Given the description of an element on the screen output the (x, y) to click on. 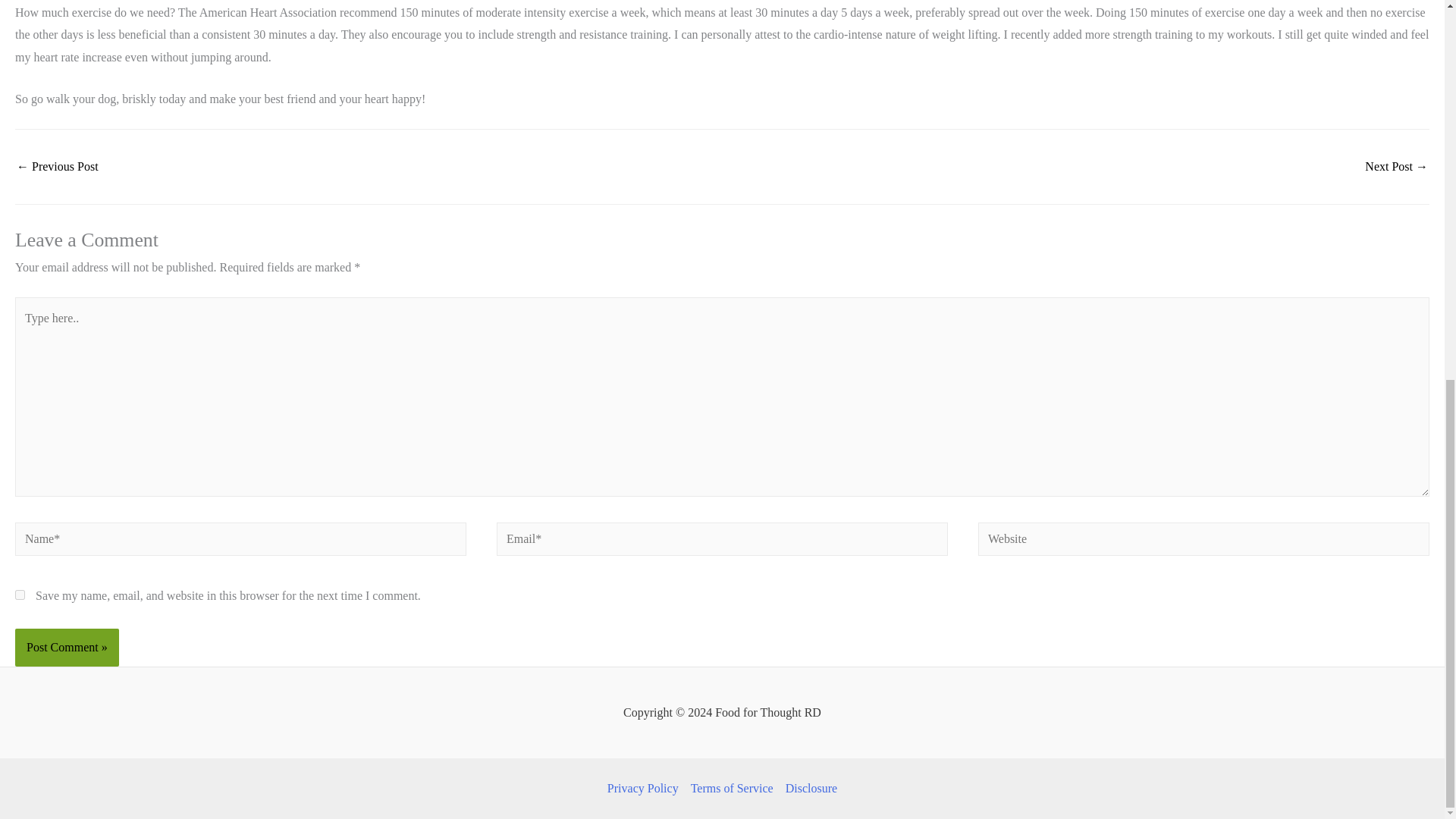
Terms of Service (731, 788)
Disclosure (807, 788)
yes (19, 594)
Privacy Policy (645, 788)
